Given the description of an element on the screen output the (x, y) to click on. 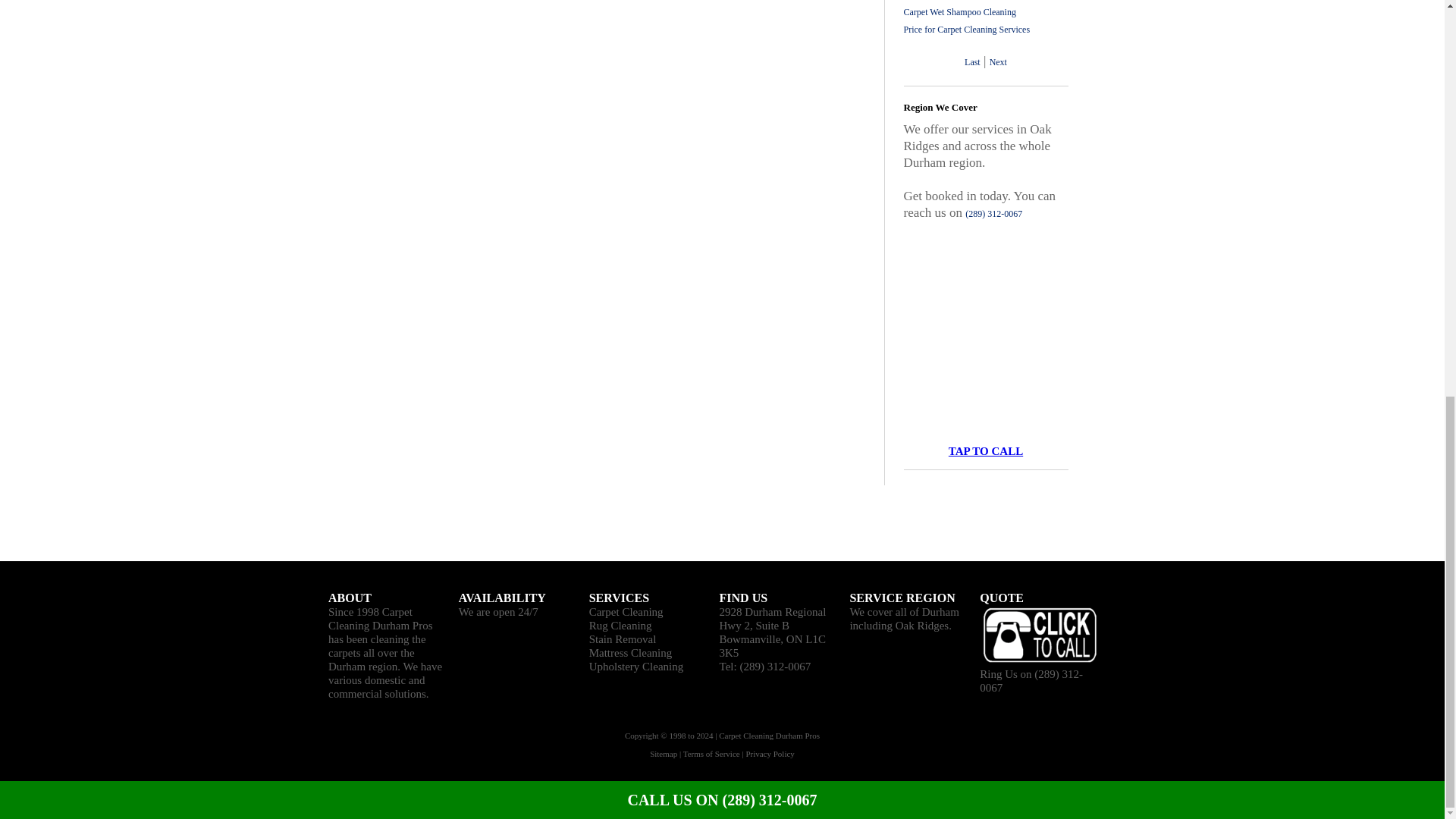
Price for Carpet Cleaning Services (967, 29)
Next (998, 61)
TAP TO CALL (986, 451)
Carpet Wet Shampoo Cleaning (960, 11)
Last (971, 61)
